Given the description of an element on the screen output the (x, y) to click on. 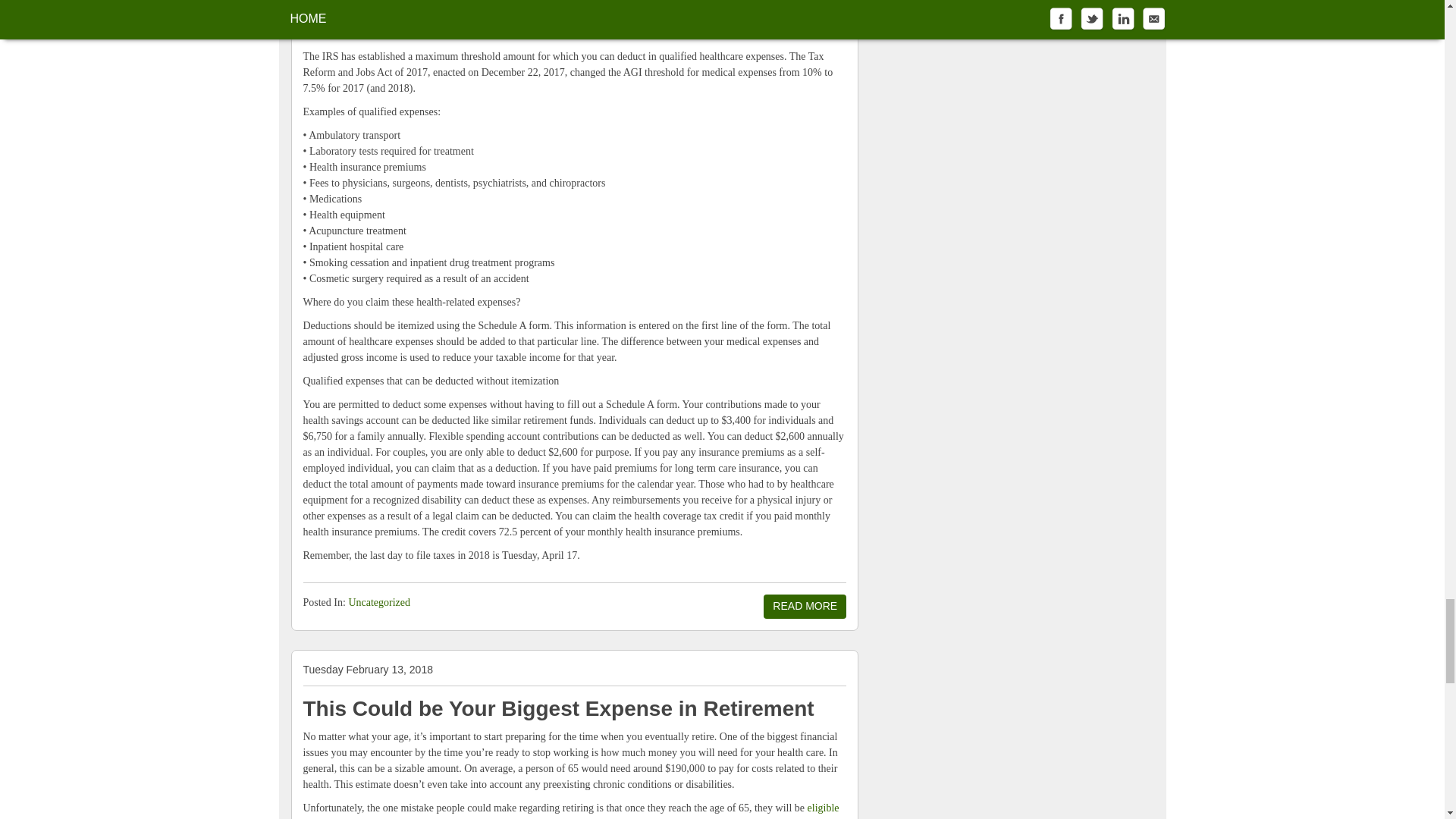
View all posts in Uncategorized (378, 602)
